Given the description of an element on the screen output the (x, y) to click on. 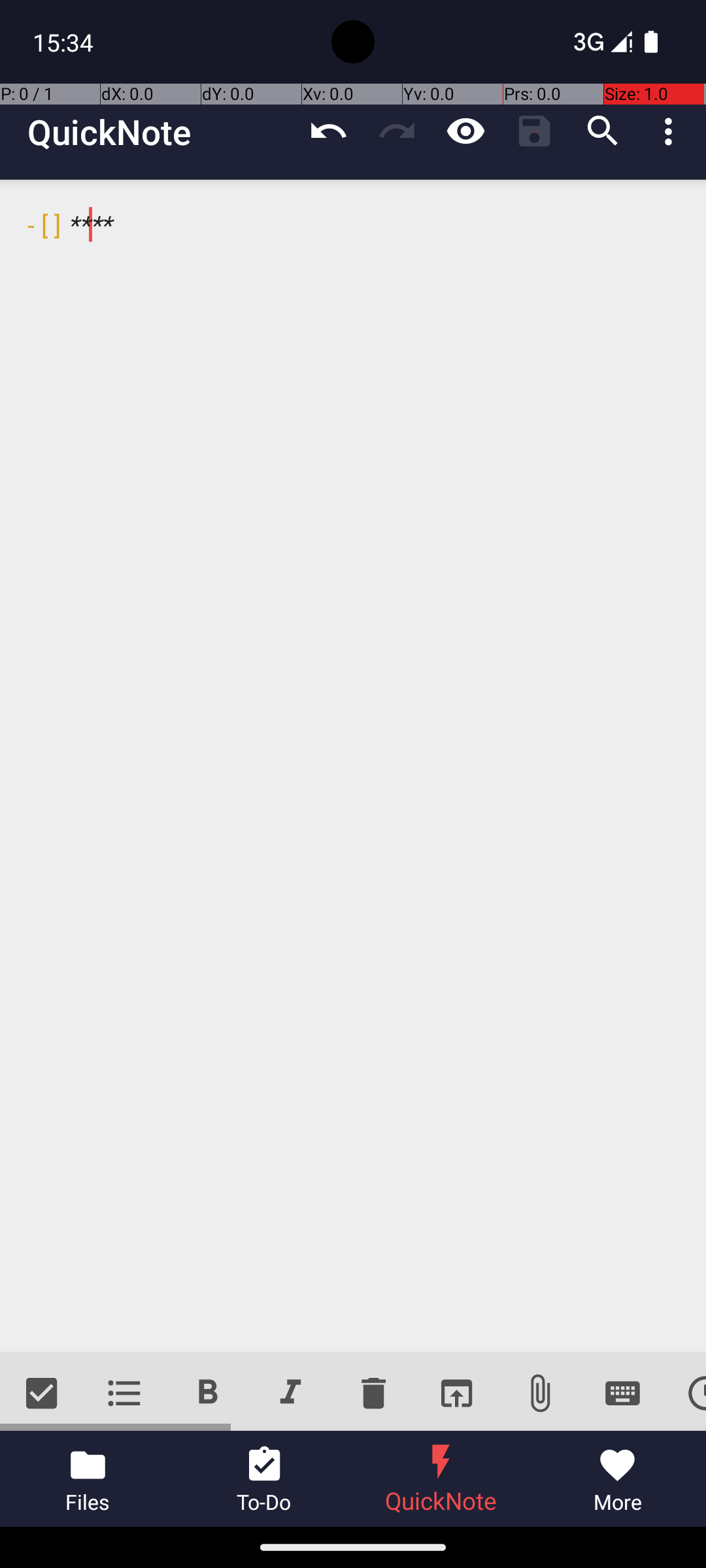
- [ ] **** Element type: android.widget.EditText (353, 765)
